Given the description of an element on the screen output the (x, y) to click on. 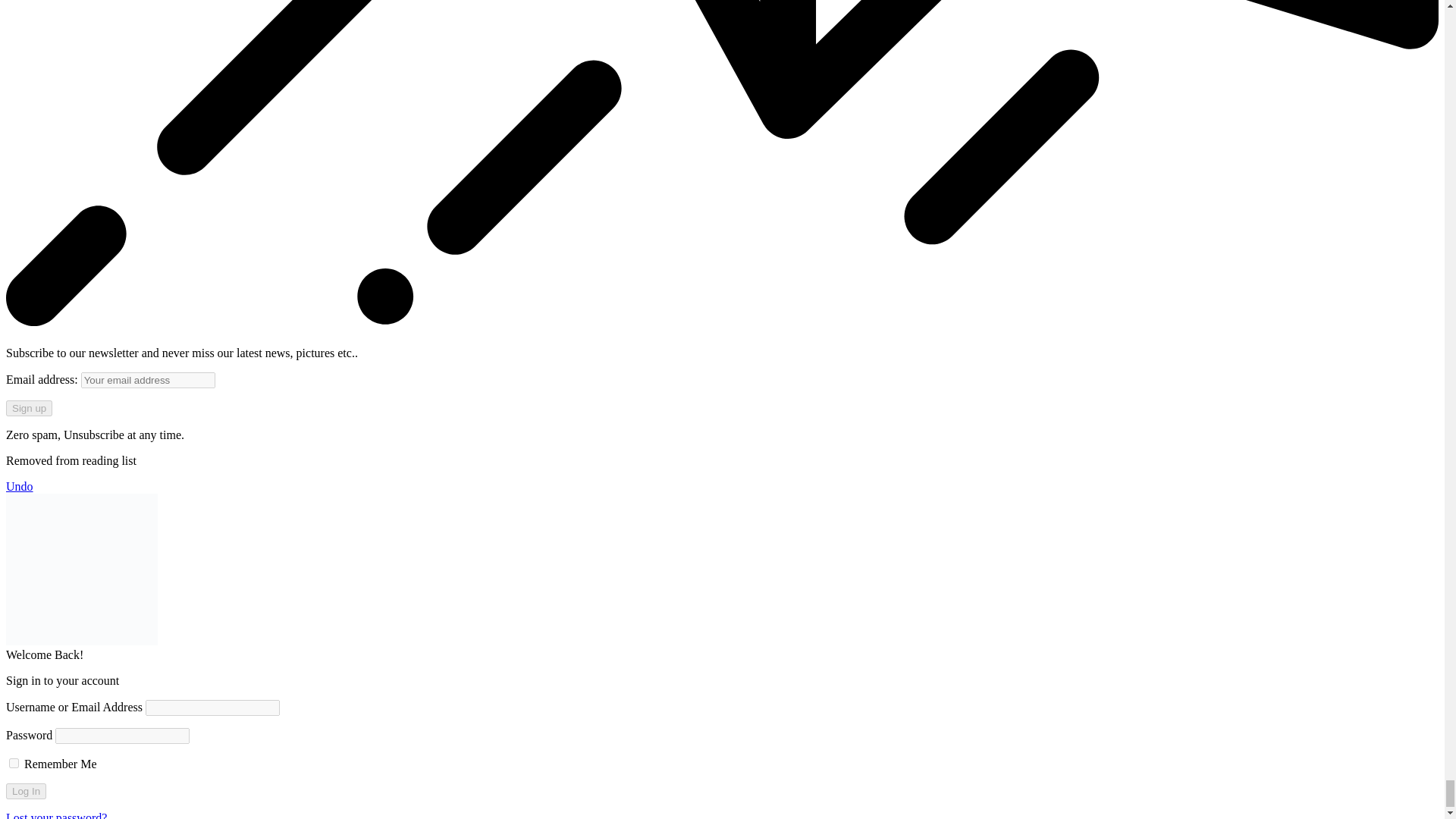
Log In (25, 790)
forever (13, 763)
Sign up (28, 408)
